Given the description of an element on the screen output the (x, y) to click on. 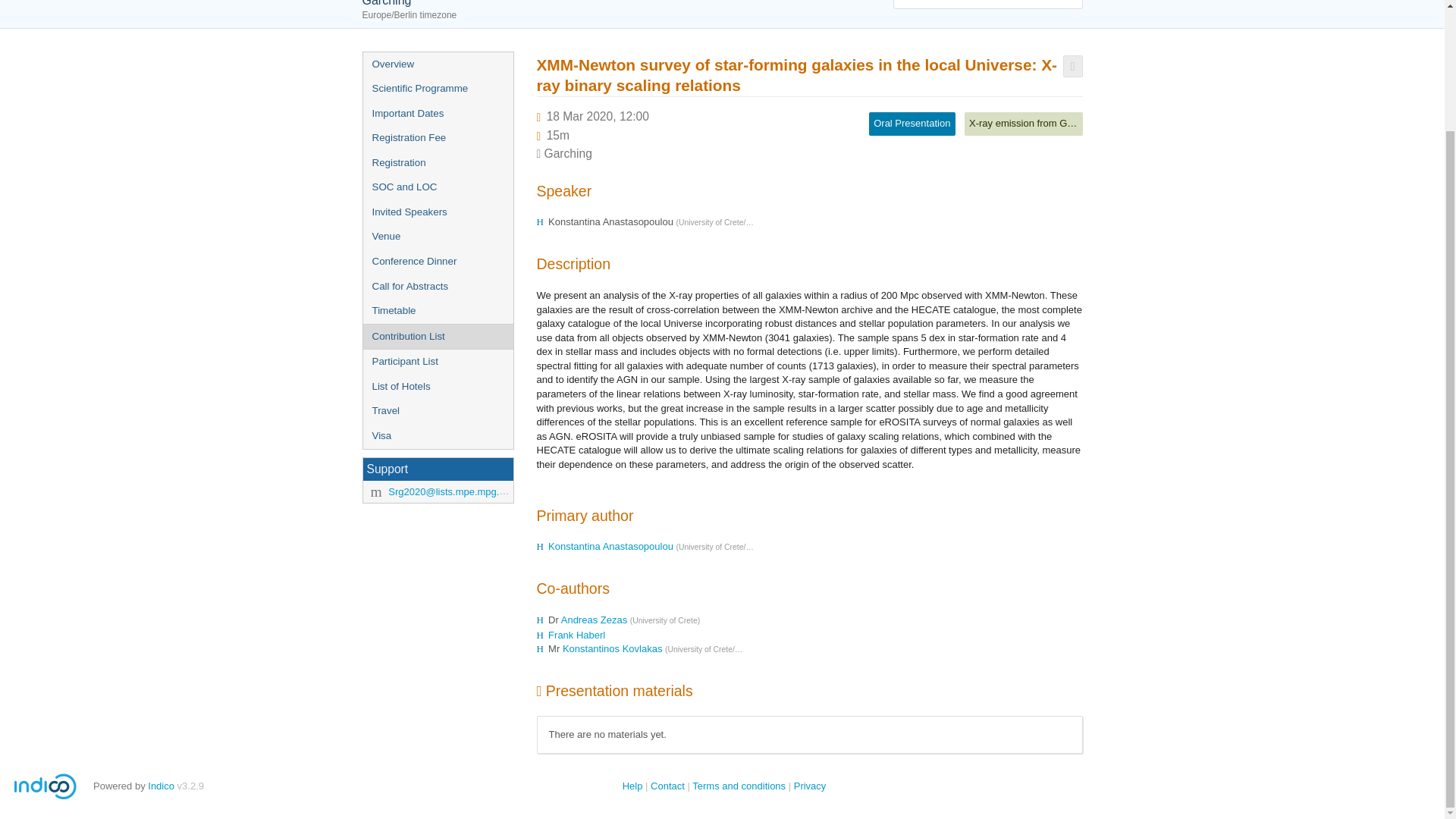
Registration (437, 163)
Invited Speakers (437, 212)
Important Dates (437, 113)
Registration Fee (437, 138)
Duration (558, 134)
Export (1072, 65)
Scientific Programme (437, 88)
Overview (437, 64)
SOC and LOC (437, 187)
